Given the description of an element on the screen output the (x, y) to click on. 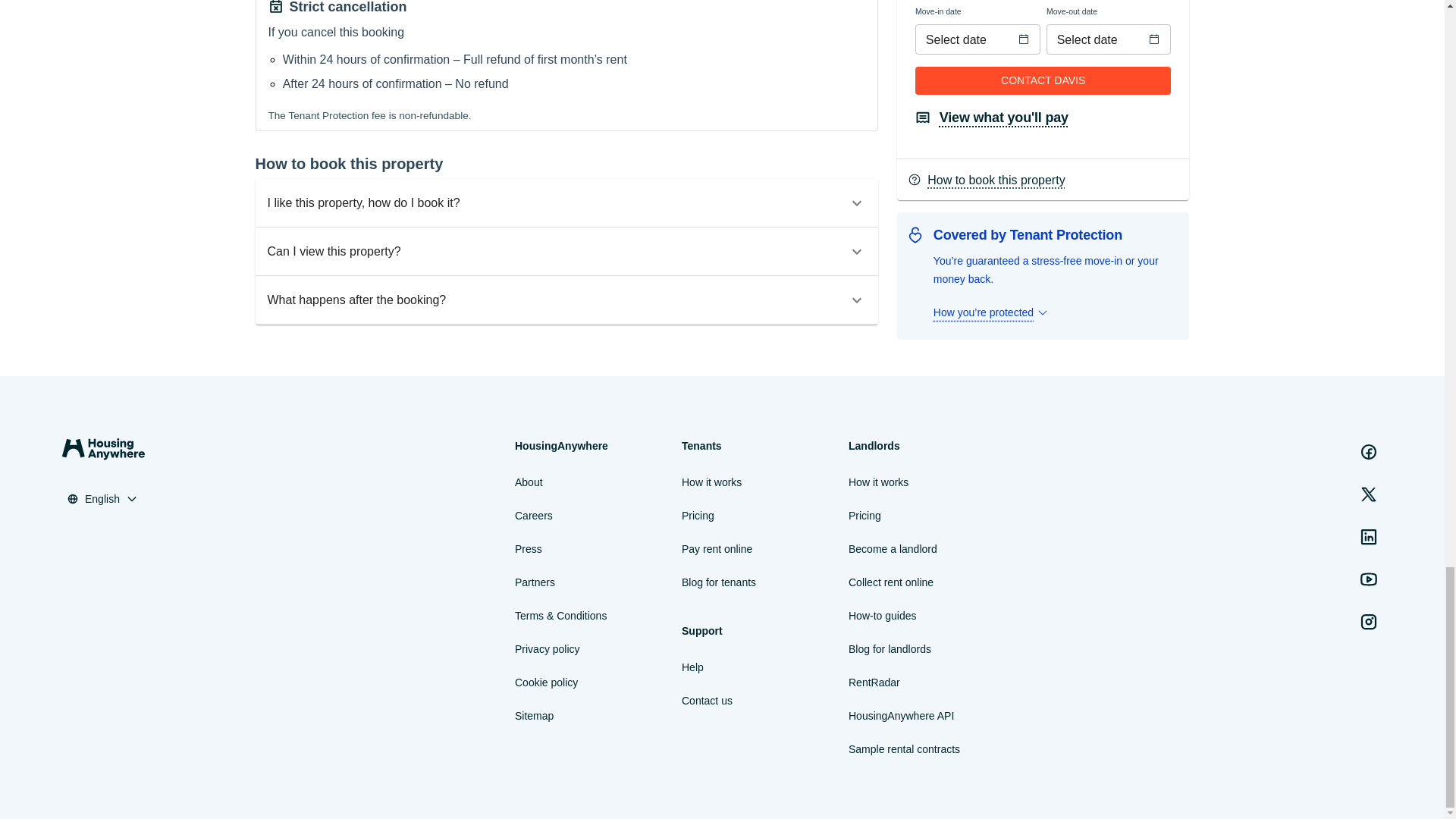
How it works (711, 482)
facebook (1369, 451)
About (529, 482)
Careers (534, 515)
Press (528, 548)
instagram (1369, 621)
Partners (534, 582)
Sitemap (534, 715)
twitter (1369, 494)
Cookie policy (546, 682)
